Given the description of an element on the screen output the (x, y) to click on. 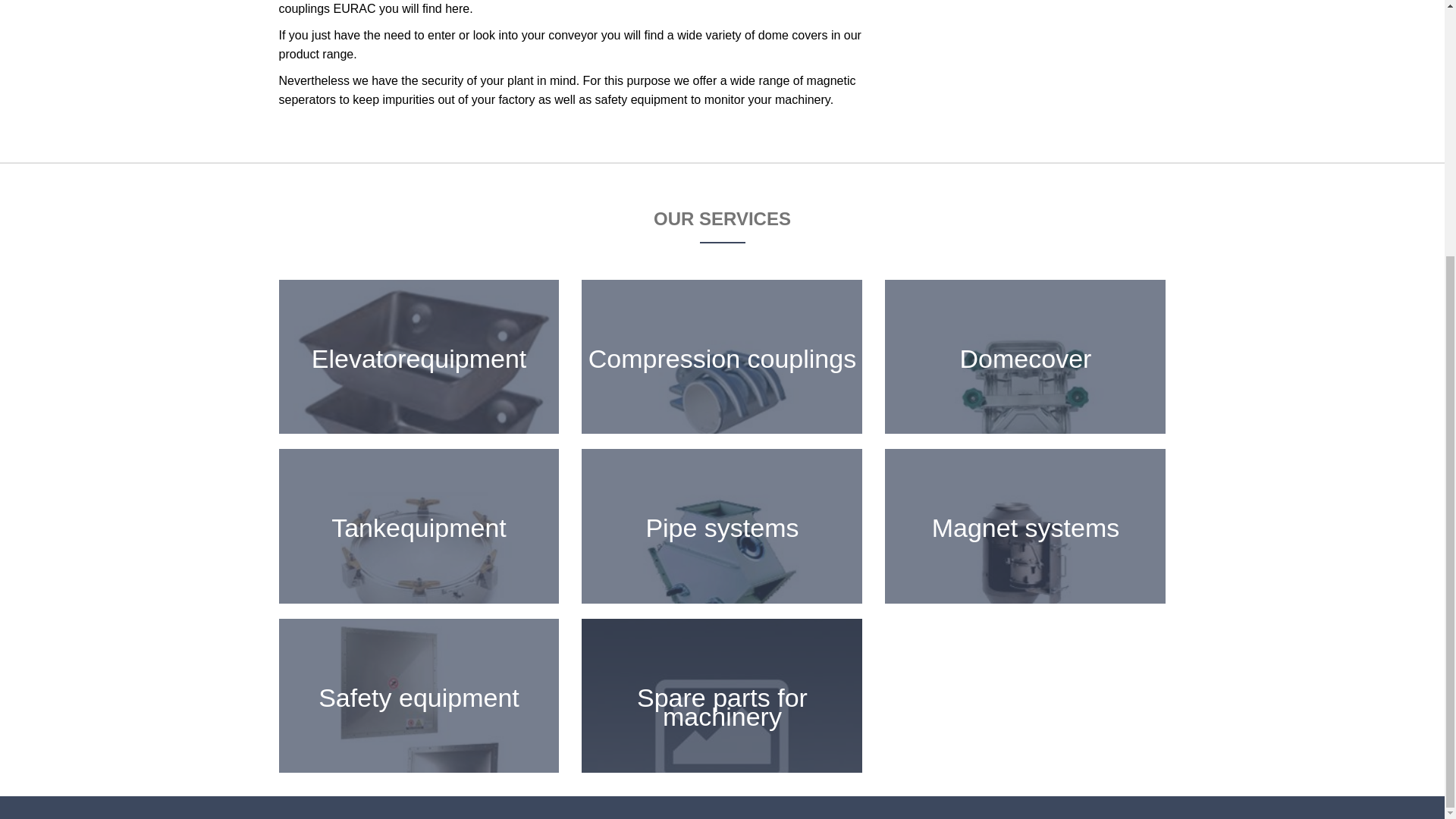
Elevatorequipment (419, 357)
Safety equipment (419, 696)
Spare parts for machinery (720, 696)
Pipe systems (720, 525)
Compression couplings (720, 357)
Tankequipment (419, 525)
Domecover (1025, 357)
Magnet systems (1025, 525)
